Given the description of an element on the screen output the (x, y) to click on. 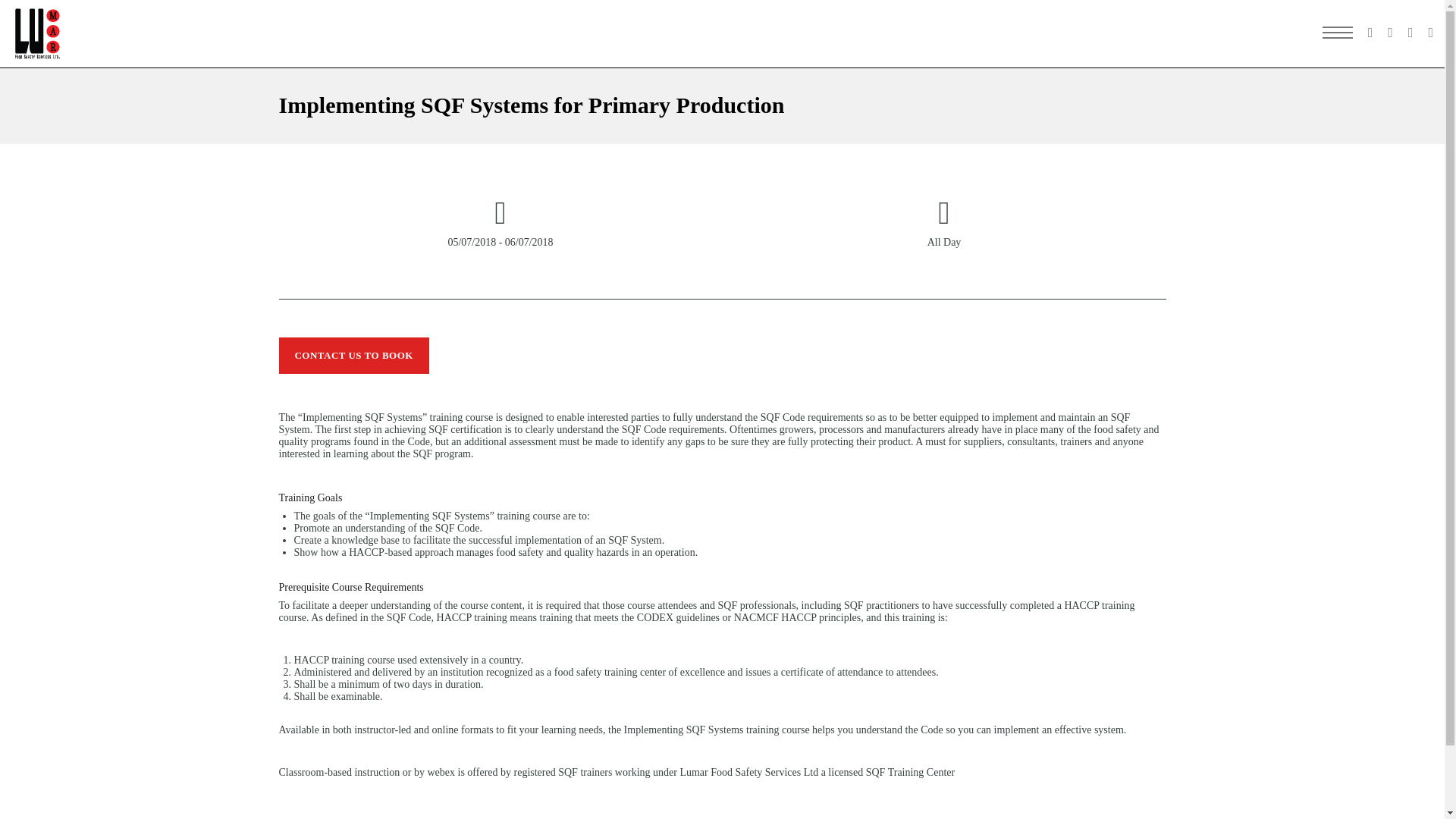
Lumar Food Safety Services (37, 33)
